Given the description of an element on the screen output the (x, y) to click on. 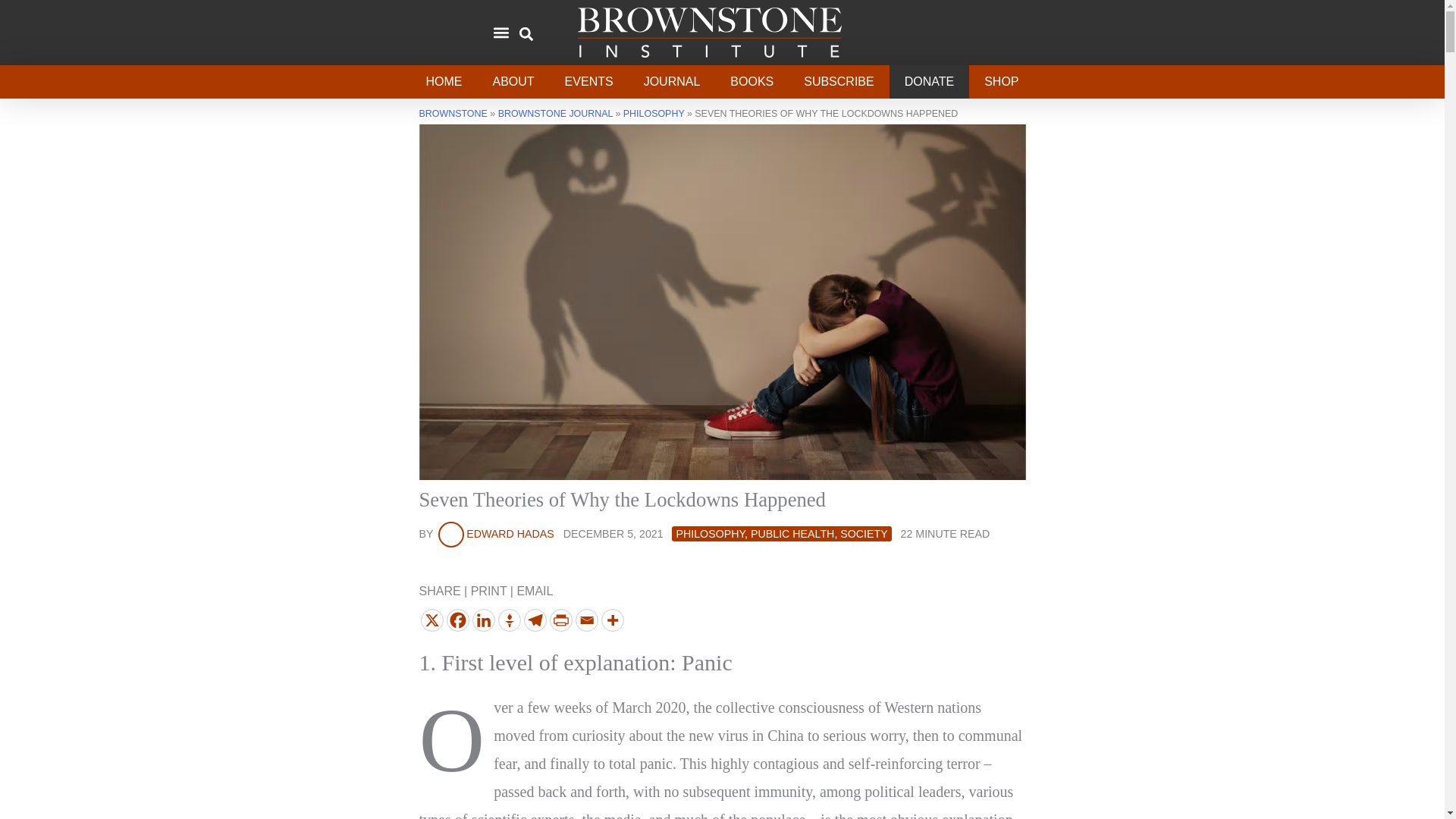
Linkedin (483, 620)
Brownstone Institute Logo White (708, 32)
Facebook (456, 620)
X (431, 620)
Telegram (534, 620)
Gettr (508, 620)
PrintFriendly (560, 620)
More (611, 620)
Email (585, 620)
View all posts by Edward Hadas (494, 533)
